Given the description of an element on the screen output the (x, y) to click on. 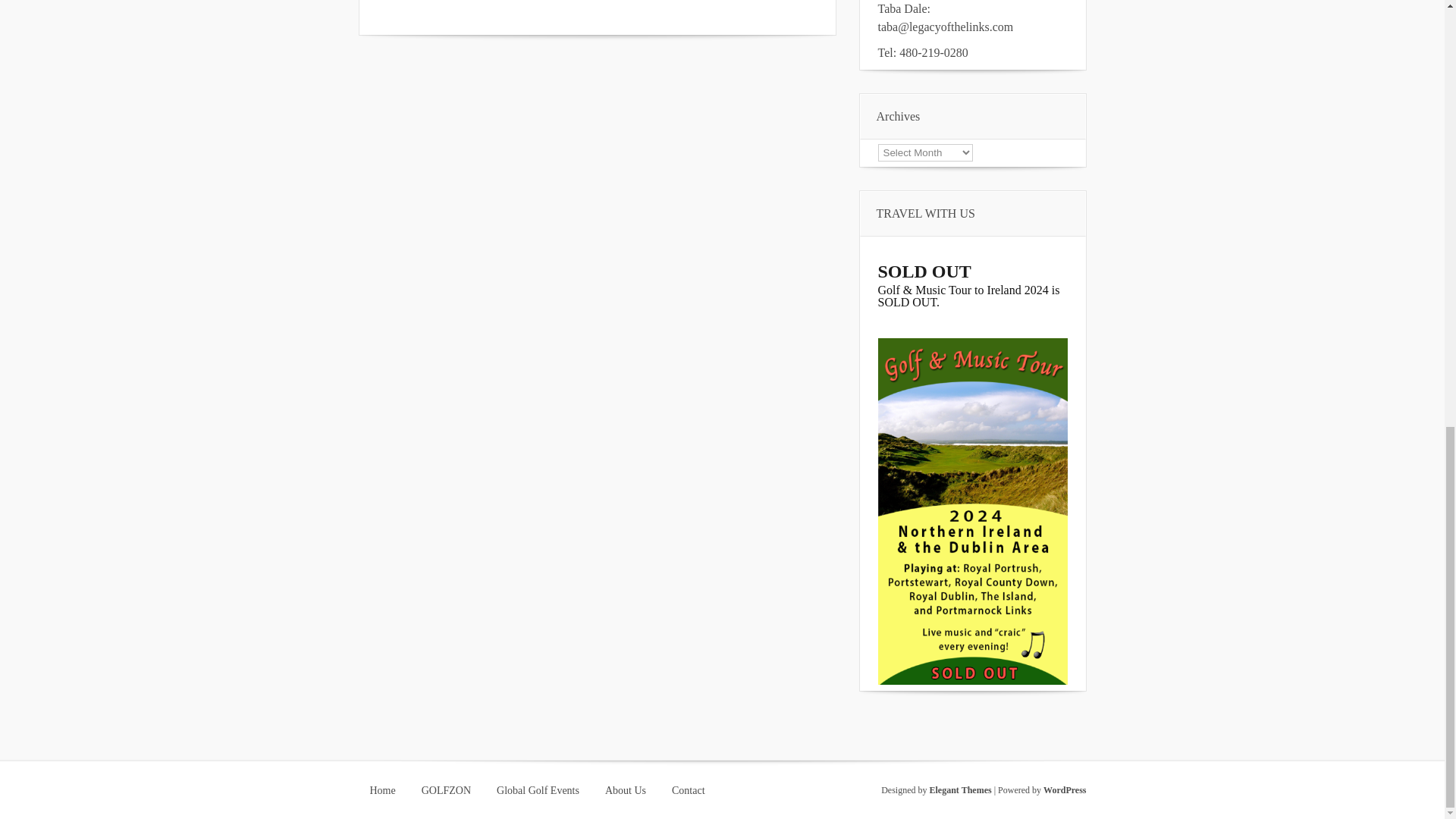
Premium WordPress Themes (960, 789)
Contact (688, 790)
GOLFZON (445, 790)
Home (382, 790)
About Us (626, 790)
Global Golf Events (537, 790)
WordPress (1064, 789)
Elegant Themes (960, 789)
